Given the description of an element on the screen output the (x, y) to click on. 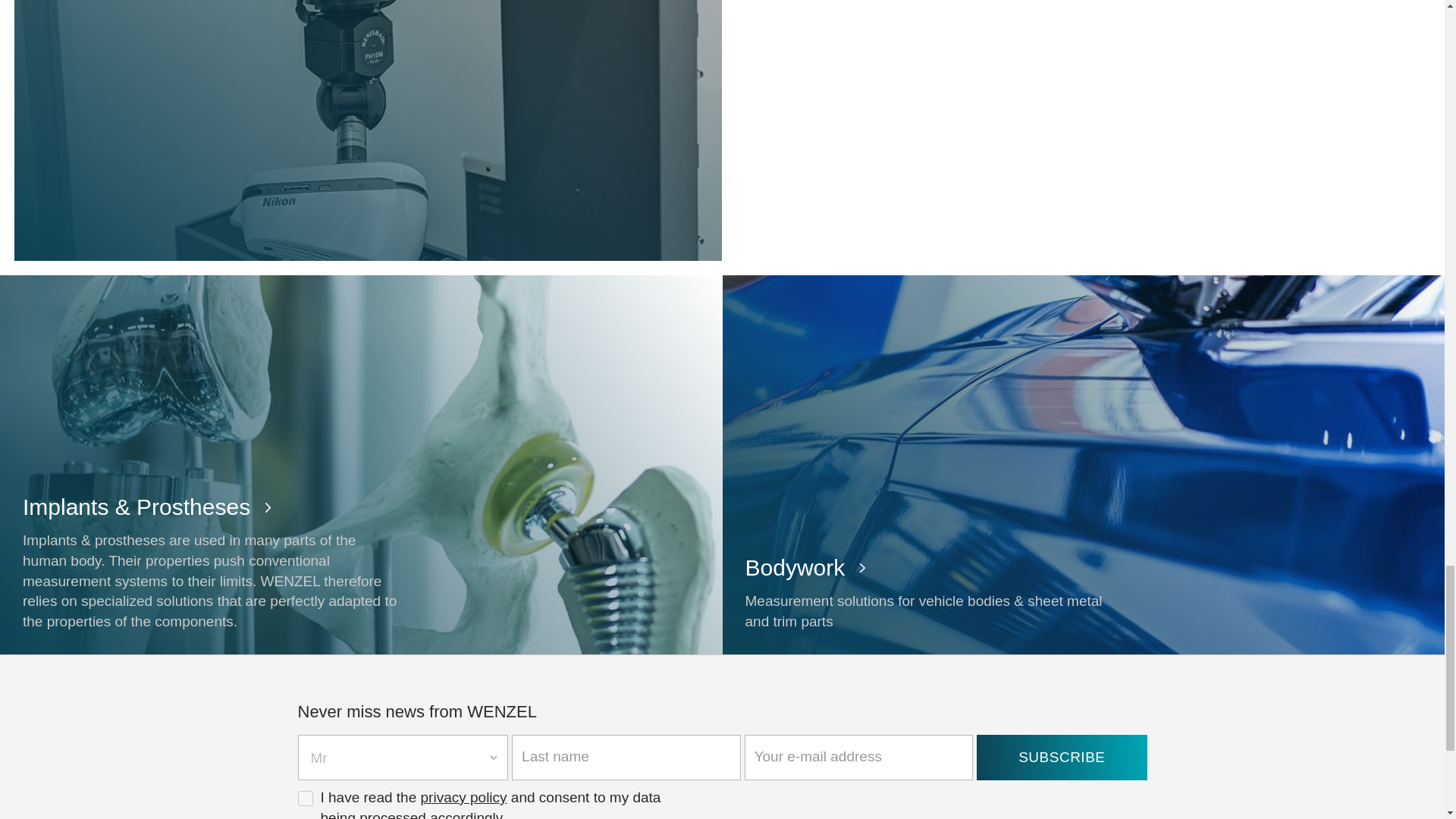
on (305, 798)
Subscribe (1061, 757)
